Given the description of an element on the screen output the (x, y) to click on. 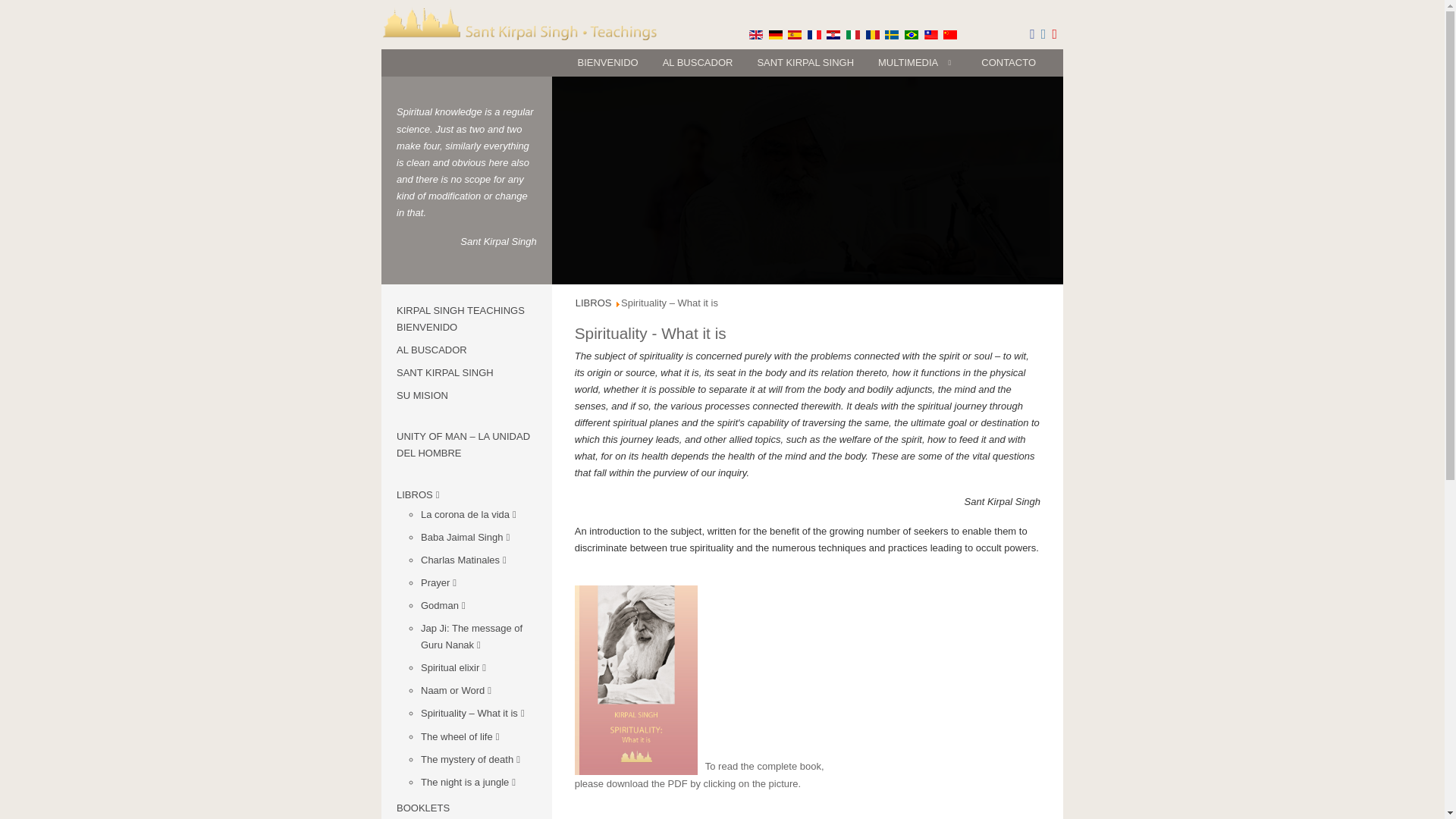
AL BUSCADOR (697, 62)
Svenska (891, 34)
SANT KIRPAL SINGH (805, 62)
MULTIMEDIA (917, 62)
BIENVENIDO (606, 62)
Hrvatski (833, 34)
French (814, 34)
Deutsch (775, 34)
Italiano (852, 34)
English  (755, 34)
